Given the description of an element on the screen output the (x, y) to click on. 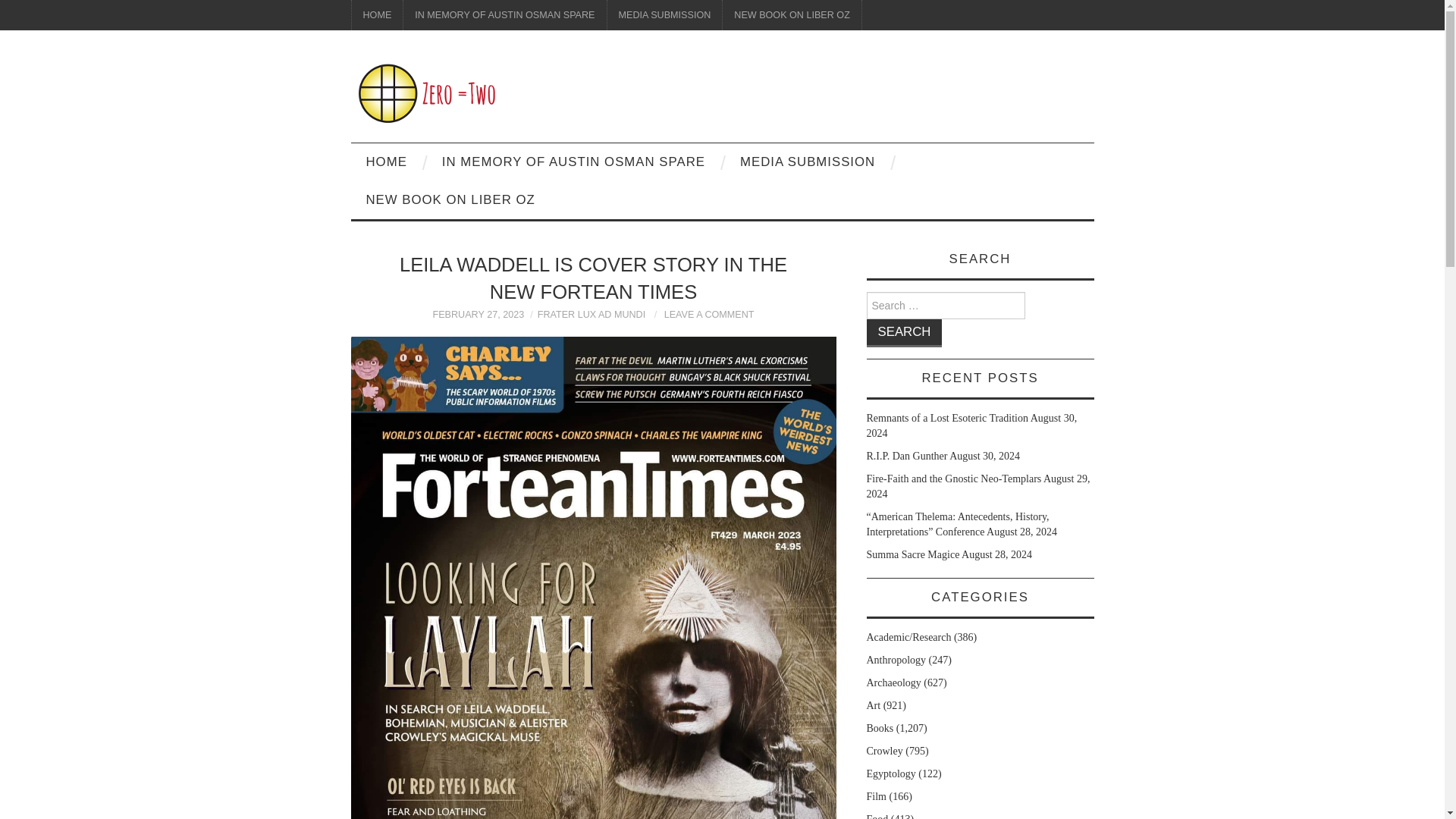
Search (904, 333)
Search (904, 333)
HOME (386, 161)
IN MEMORY OF AUSTIN OSMAN SPARE (504, 15)
MEDIA SUBMISSION (664, 15)
Search (904, 333)
Egyptology (890, 773)
Summa Sacre Magice (912, 554)
Anthropology (896, 659)
Search for: (945, 305)
